Given the description of an element on the screen output the (x, y) to click on. 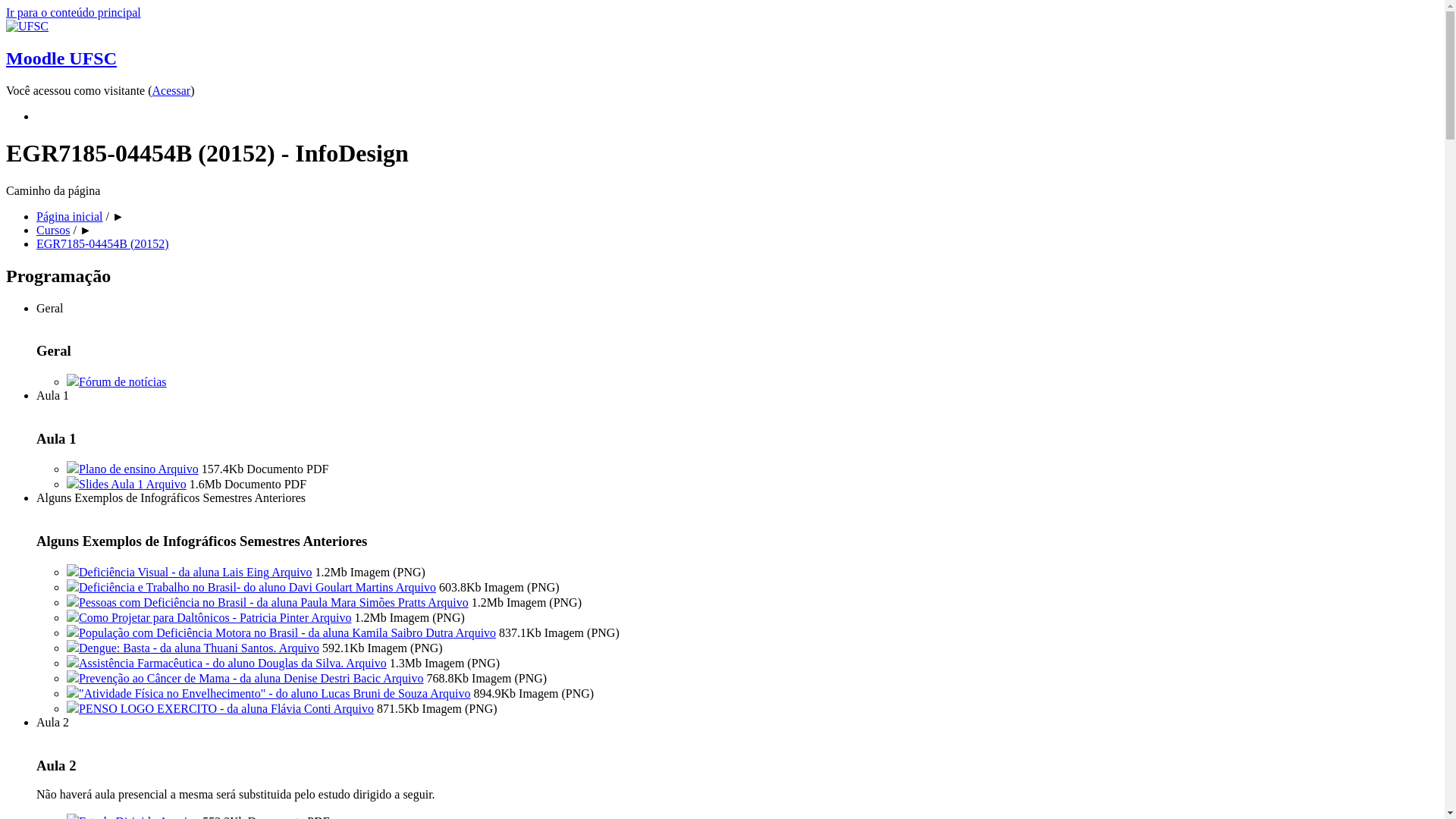
Plano de ensino Arquivo Element type: text (132, 468)
Moodle UFSC Element type: text (722, 72)
EGR7185-04454B (20152) Element type: text (102, 243)
Acessar Element type: text (171, 90)
Slides Aula 1 Arquivo Element type: text (126, 483)
Cursos Element type: text (52, 229)
Dengue: Basta - da aluna Thuani Santos. Arquivo Element type: text (192, 647)
